Given the description of an element on the screen output the (x, y) to click on. 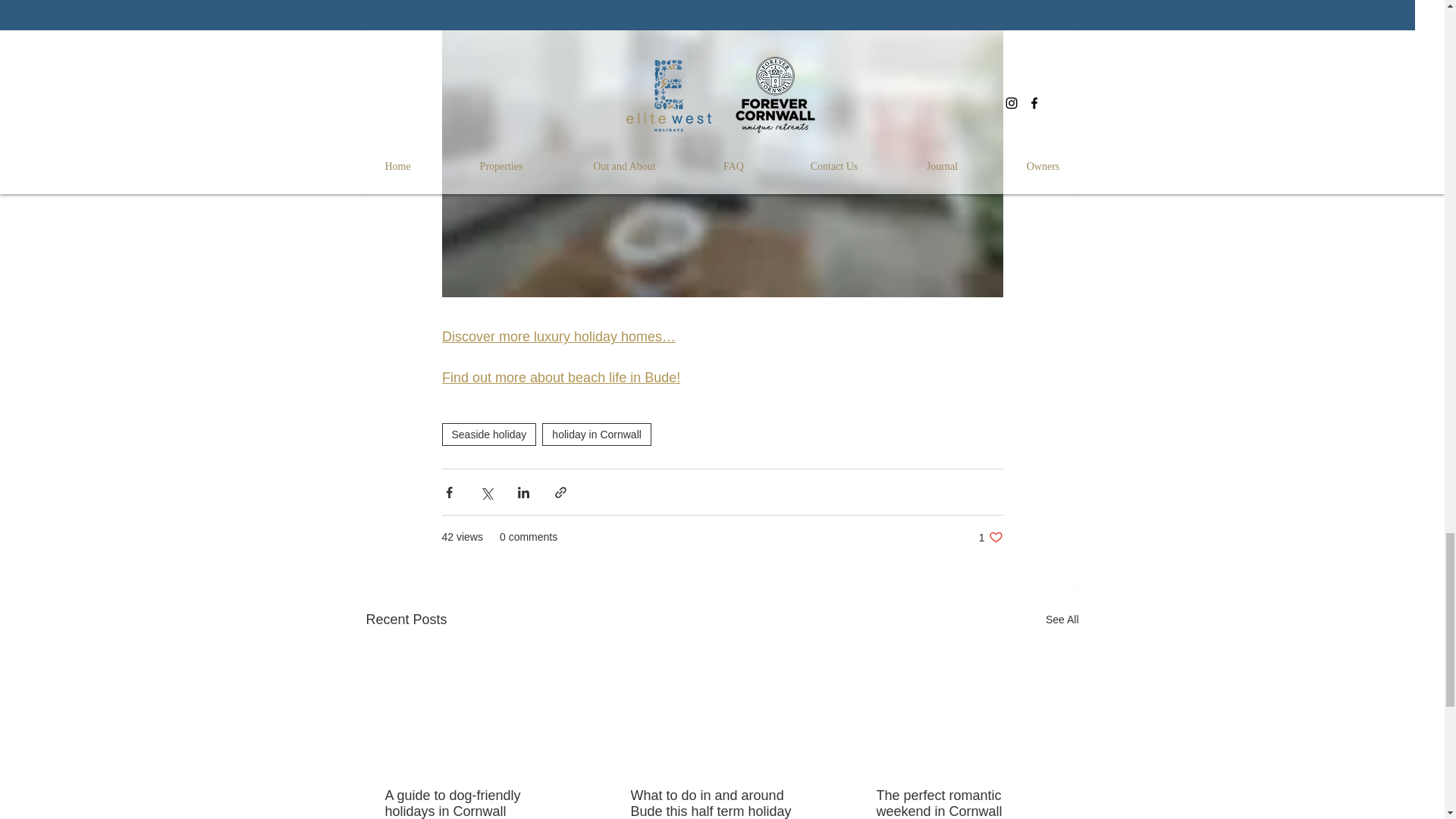
Seaside holiday (488, 434)
Find out more about beach life in Bude! (560, 377)
